Given the description of an element on the screen output the (x, y) to click on. 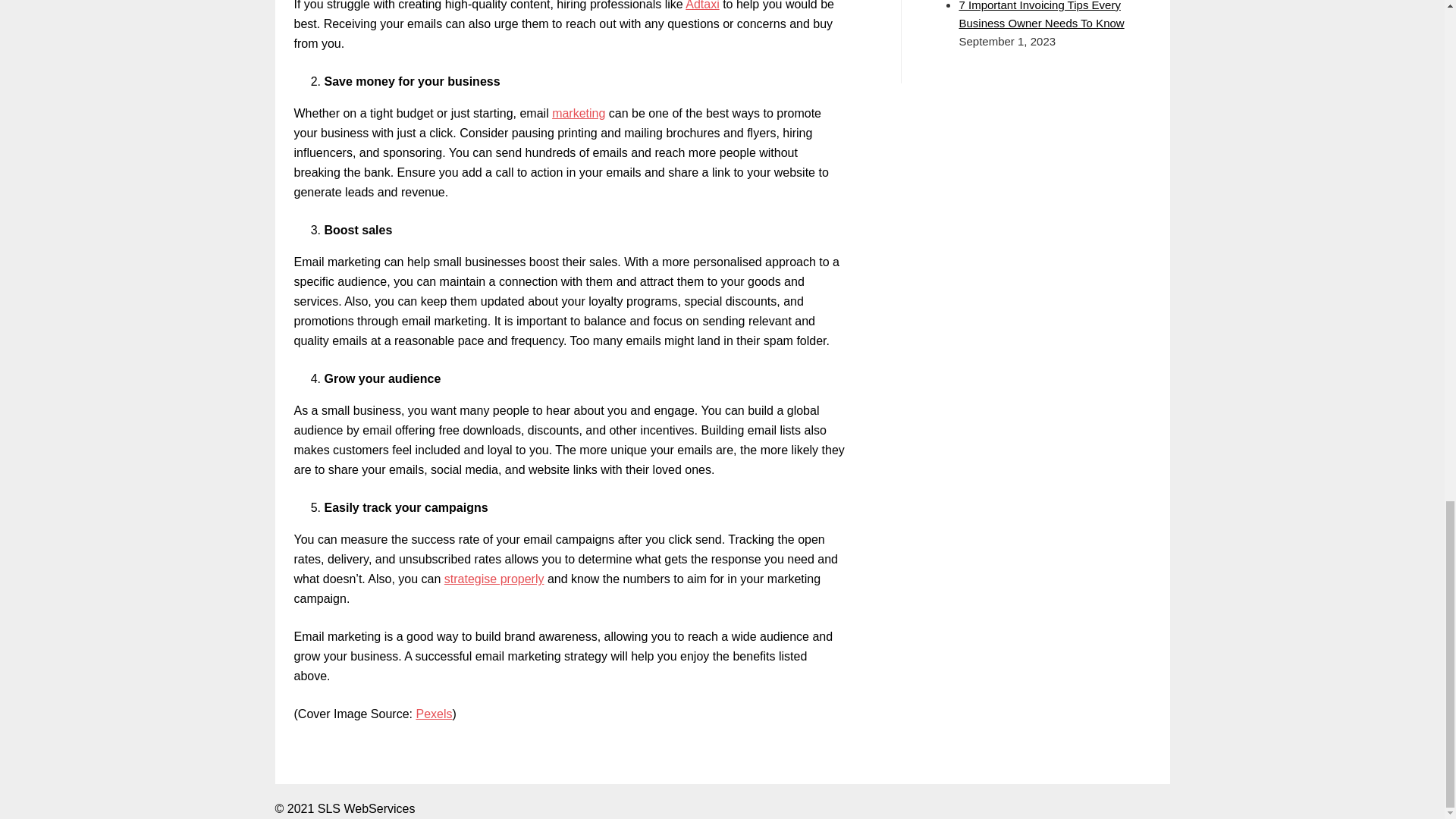
strategise properly (494, 578)
Pexels (432, 713)
Adtaxi (702, 5)
marketing (578, 113)
